Given the description of an element on the screen output the (x, y) to click on. 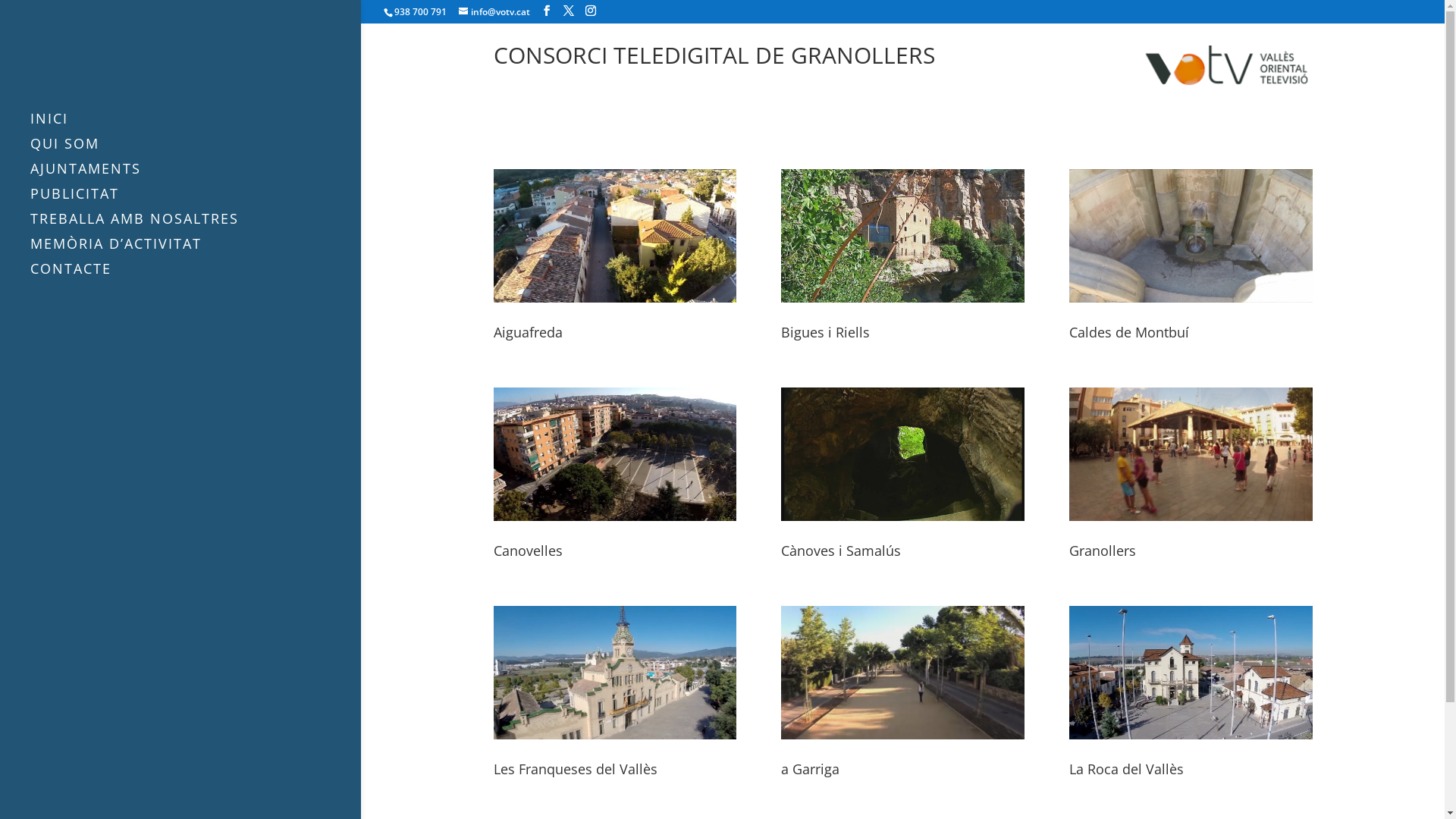
logo-votv Element type: hover (1226, 65)
QUI SOM Element type: text (195, 150)
CONTACTE Element type: text (195, 275)
TREBALLA AMB NOSALTRES Element type: text (195, 225)
PUBLICITAT Element type: text (195, 200)
Bigues i Riells Element type: text (825, 332)
INICI Element type: text (195, 125)
Aiguafreda Element type: text (527, 332)
Granollers Element type: text (1102, 550)
Canovelles Element type: text (527, 550)
a Garriga Element type: text (810, 768)
AJUNTAMENTS Element type: text (195, 175)
info@votv.cat Element type: text (494, 11)
